Given the description of an element on the screen output the (x, y) to click on. 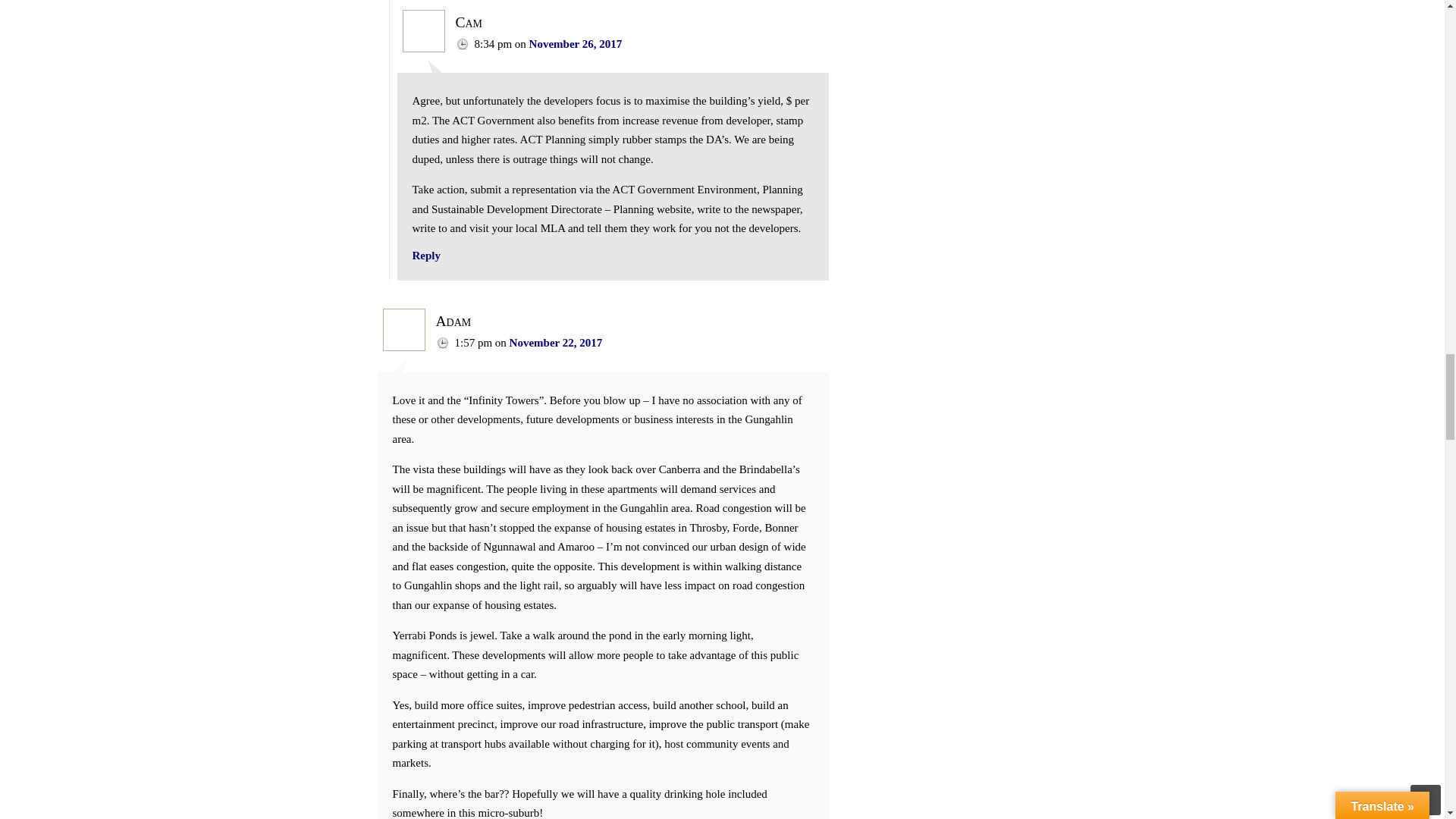
November 22, 2017 (555, 342)
Reply (426, 255)
November 26, 2017 (576, 43)
November 26, 2017 (576, 43)
November 22, 2017 (555, 342)
